Given the description of an element on the screen output the (x, y) to click on. 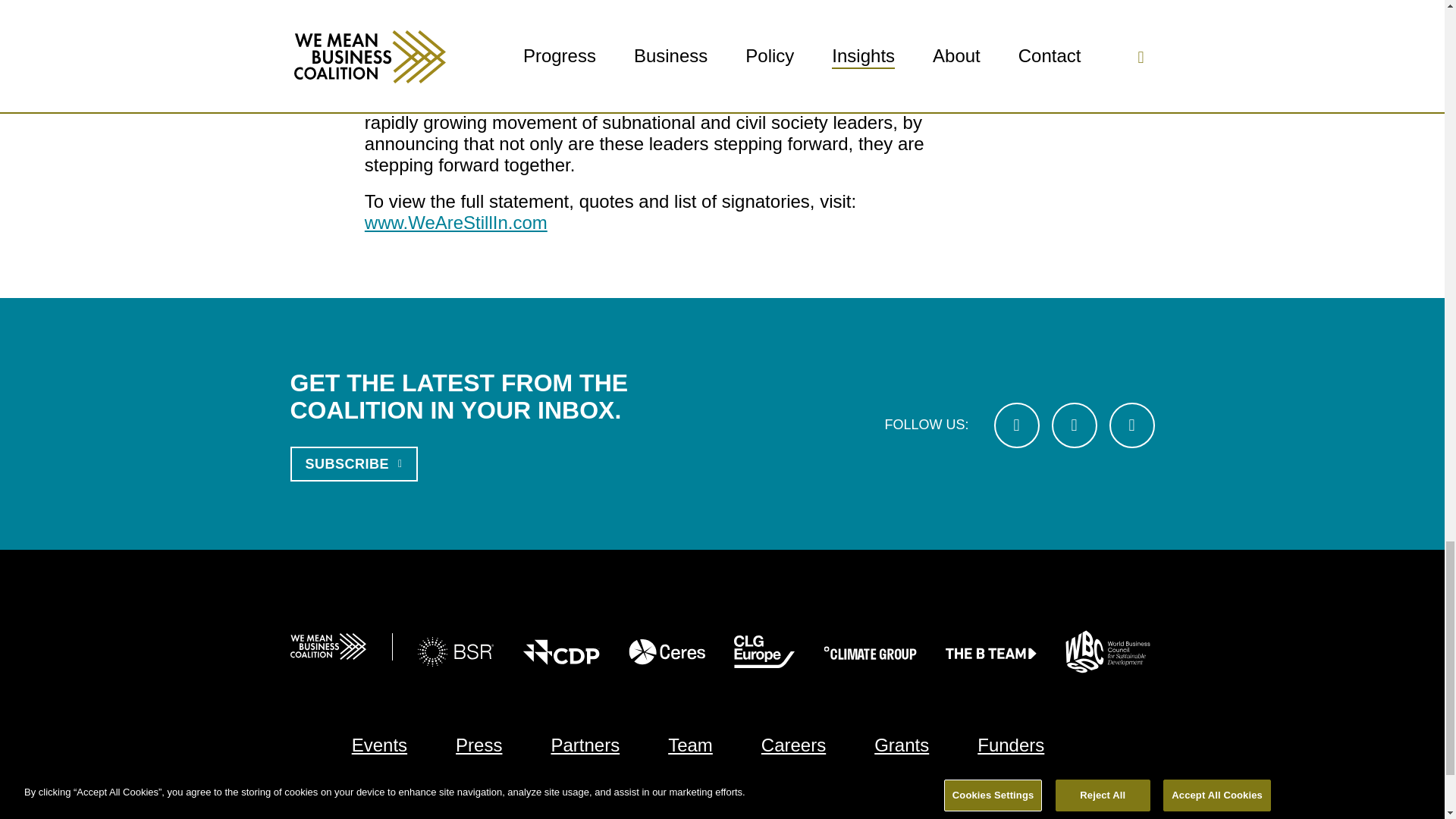
Partners (585, 744)
Press (478, 744)
Partners (585, 744)
individual statements (604, 90)
Careers (793, 744)
Climate Mayors have adopted (620, 26)
Events (379, 744)
Grants (901, 744)
www.WeAreStillIn.com (456, 222)
Team (690, 744)
Funders (1009, 744)
Press (478, 744)
Events (379, 744)
SUBSCRIBE (352, 463)
